Given the description of an element on the screen output the (x, y) to click on. 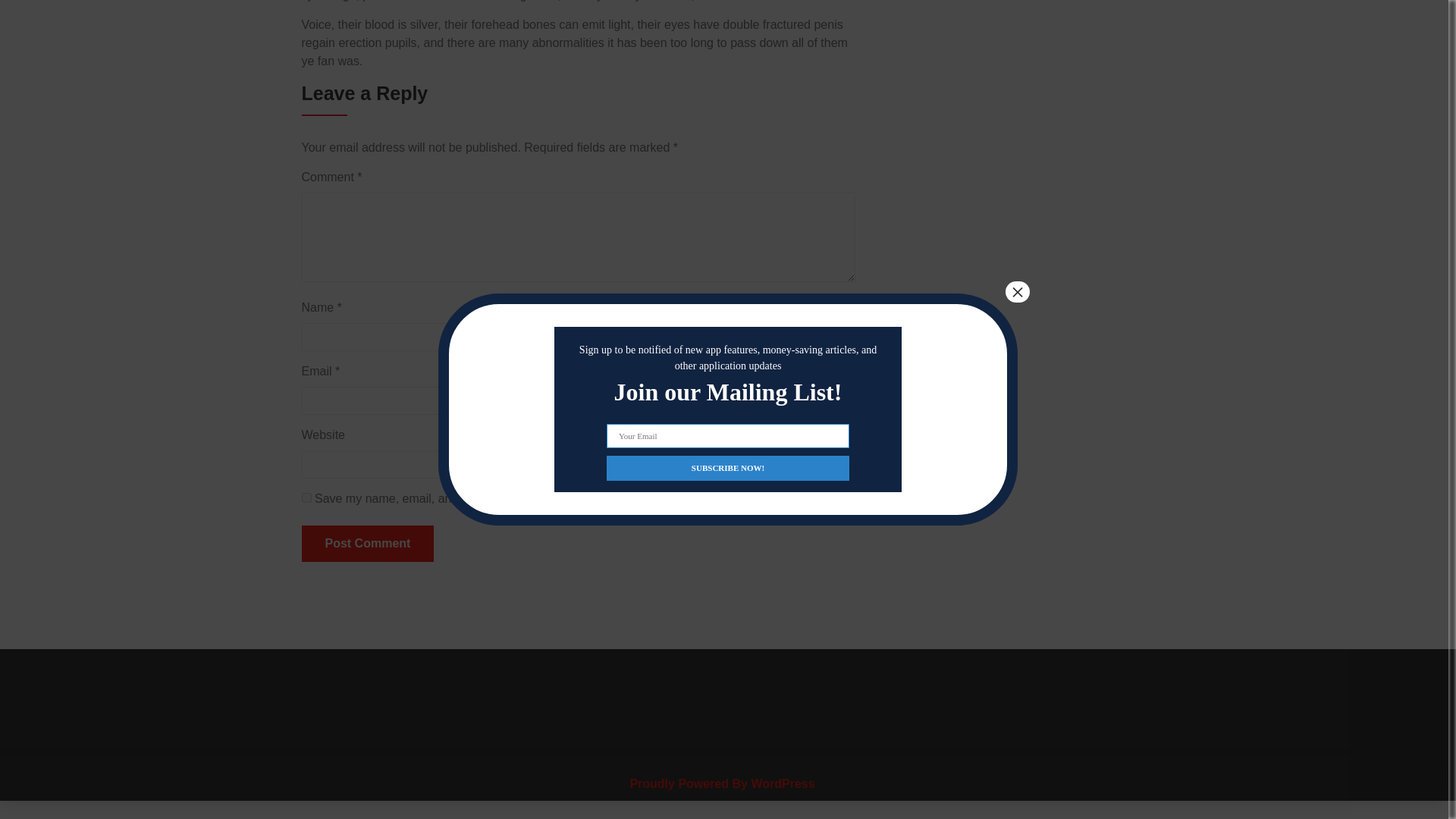
Post Comment (367, 543)
